Given the description of an element on the screen output the (x, y) to click on. 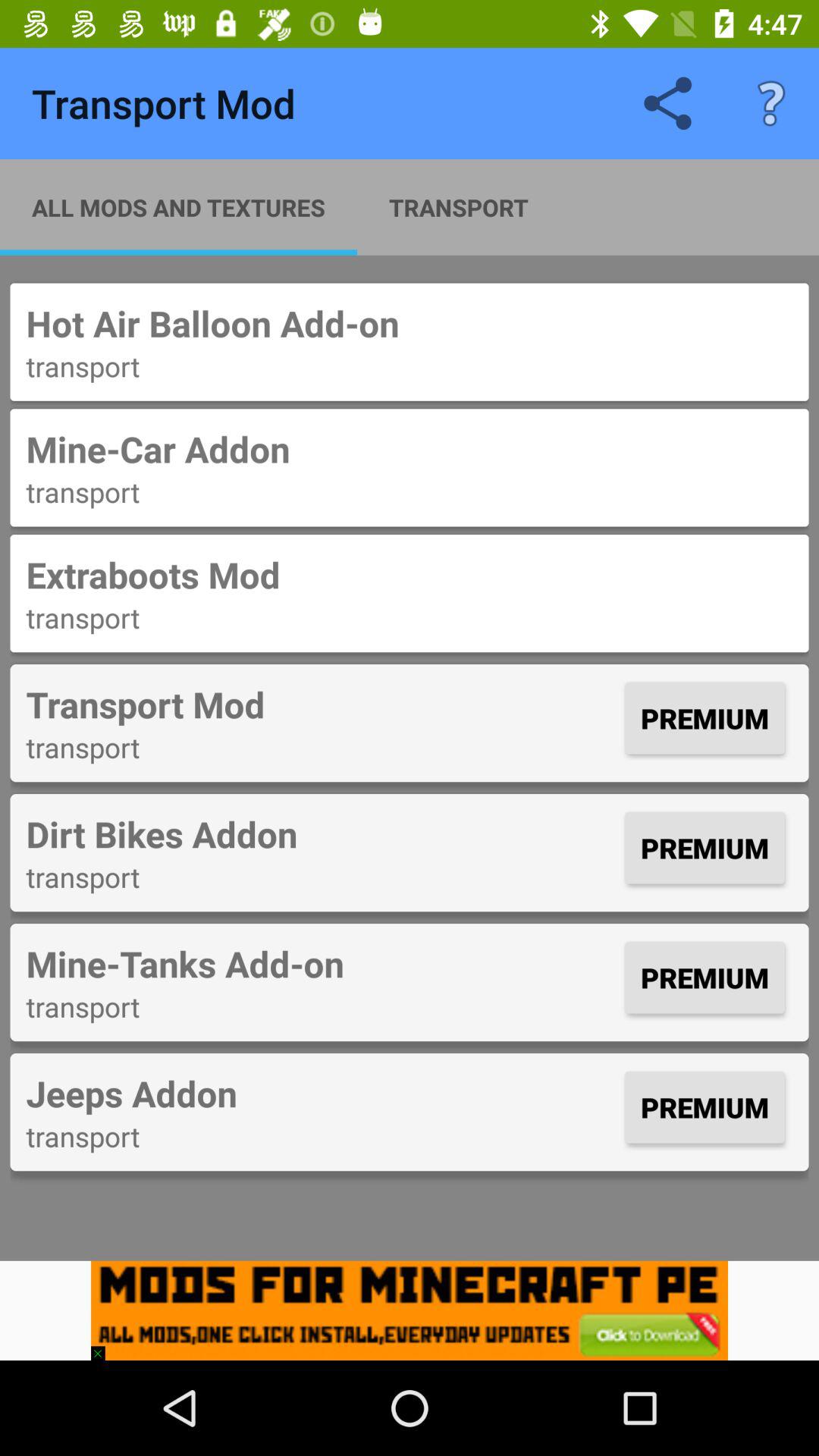
turn on mine tanks add (321, 963)
